Given the description of an element on the screen output the (x, y) to click on. 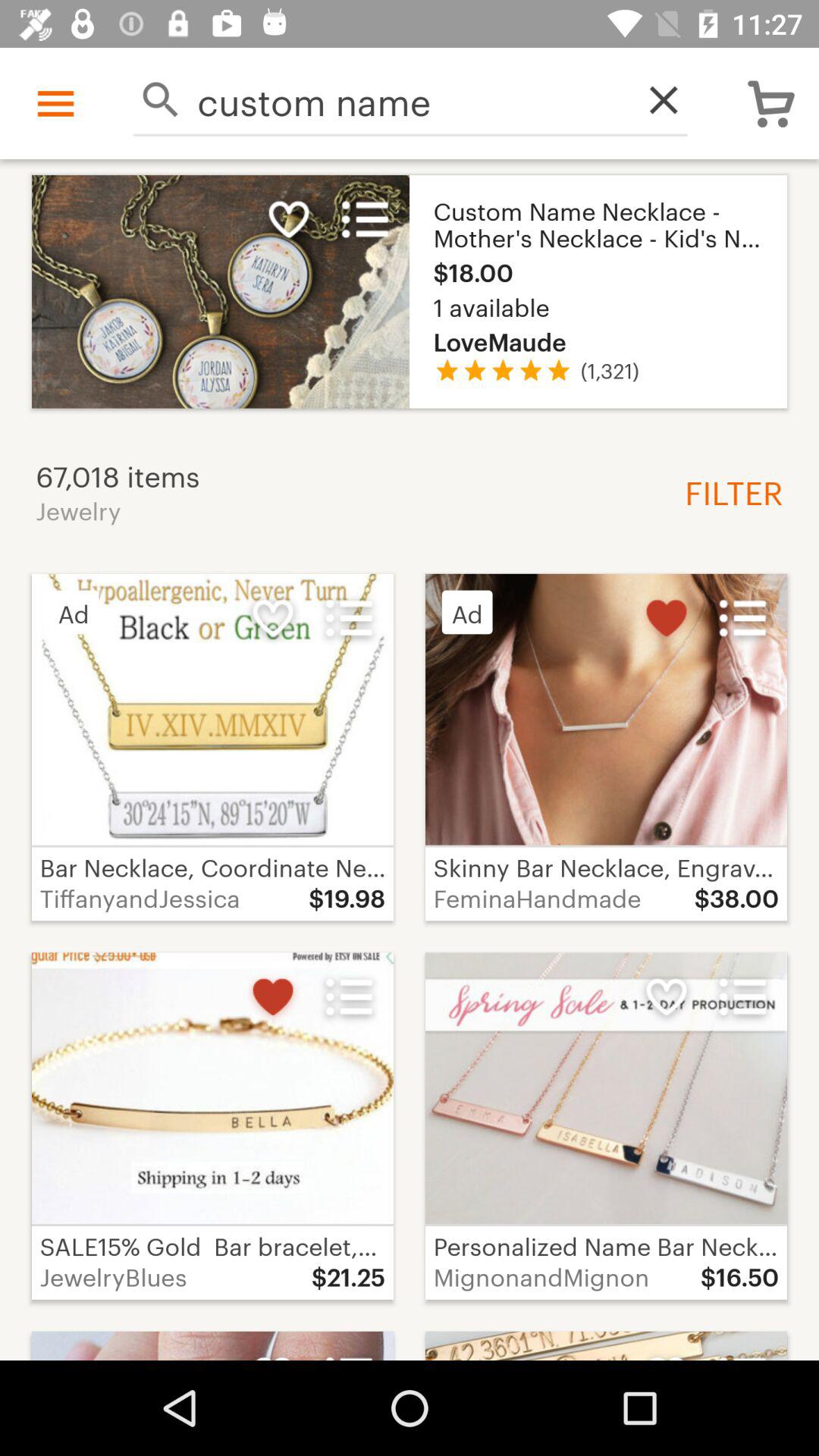
select item next to 67,018 items icon (727, 491)
